Given the description of an element on the screen output the (x, y) to click on. 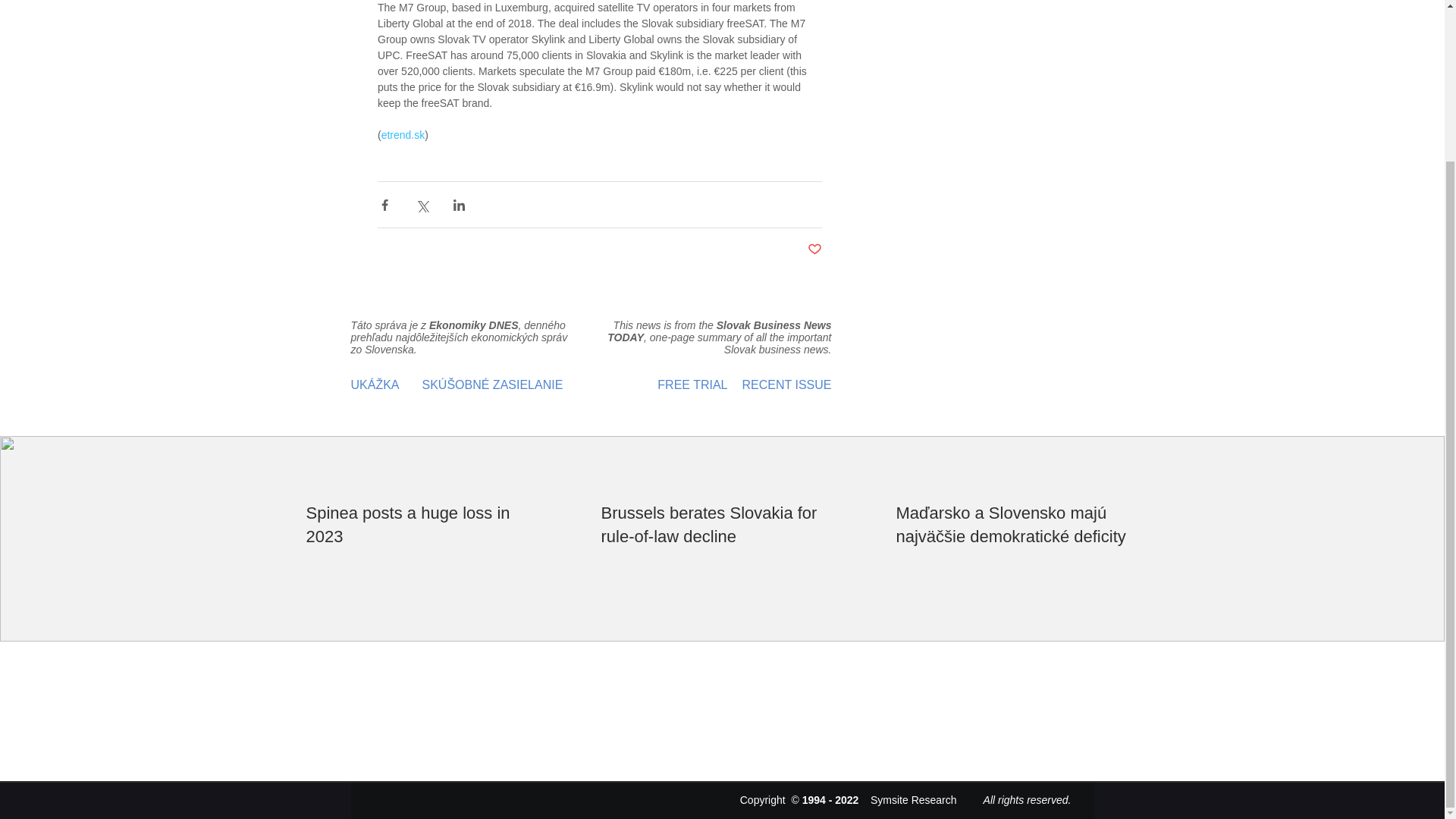
Brussels berates Slovakia for rule-of-law decline (721, 525)
FREE TRIAL (662, 385)
Post not marked as liked (813, 249)
etrend.sk (402, 134)
Spinea posts a huge loss in 2023 (427, 525)
RECENT ISSUE (783, 385)
